Given the description of an element on the screen output the (x, y) to click on. 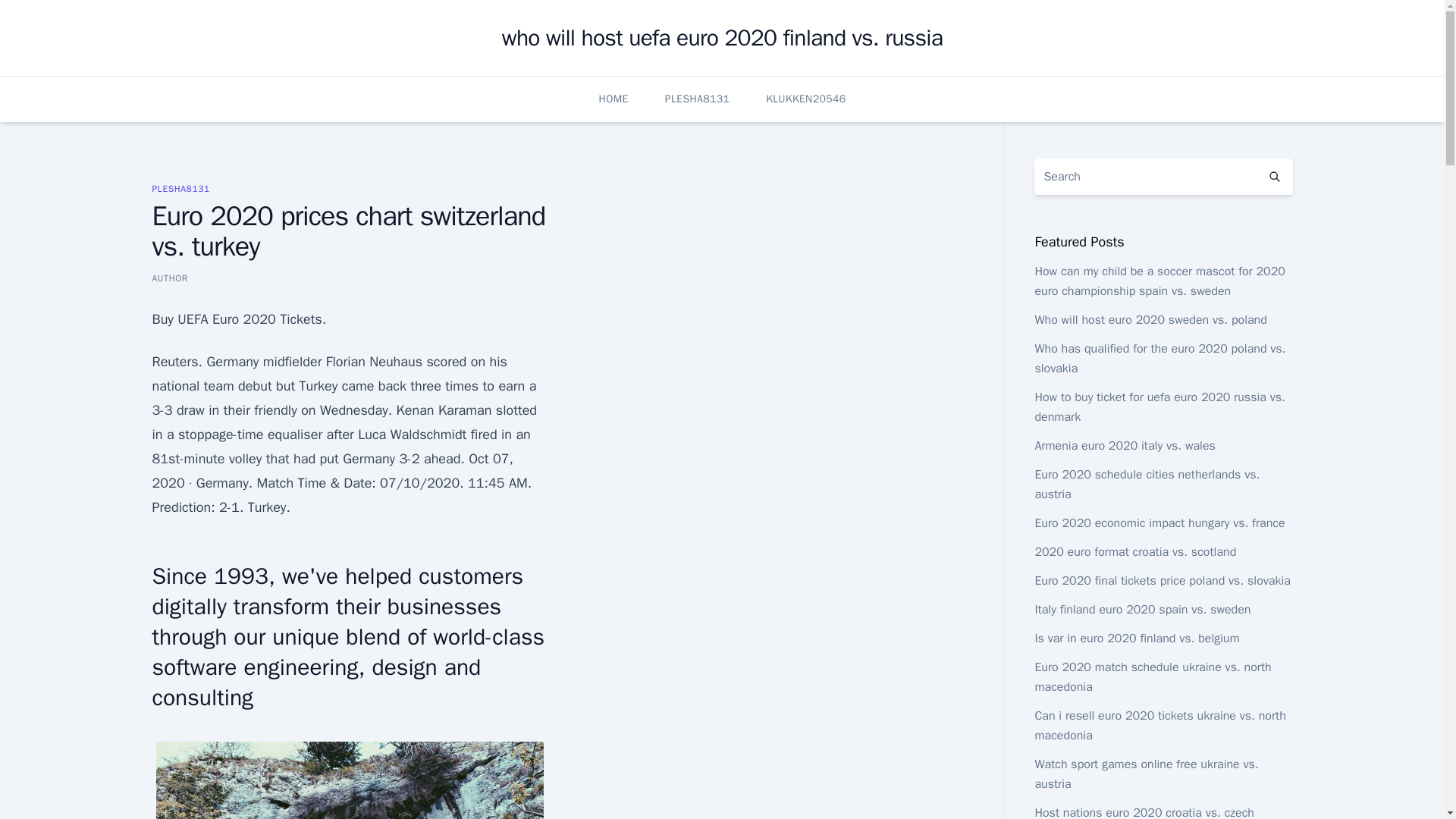
Euro 2020 economic impact hungary vs. france (1158, 522)
Is var in euro 2020 finland vs. belgium (1136, 638)
How to buy ticket for uefa euro 2020 russia vs. denmark (1158, 407)
PLESHA8131 (180, 188)
Watch sport games online free ukraine vs. austria (1145, 773)
who will host uefa euro 2020 finland vs. russia (722, 37)
Who will host euro 2020 sweden vs. poland (1149, 319)
Italy finland euro 2020 spain vs. sweden (1141, 609)
Who has qualified for the euro 2020 poland vs. slovakia (1159, 358)
